Given the description of an element on the screen output the (x, y) to click on. 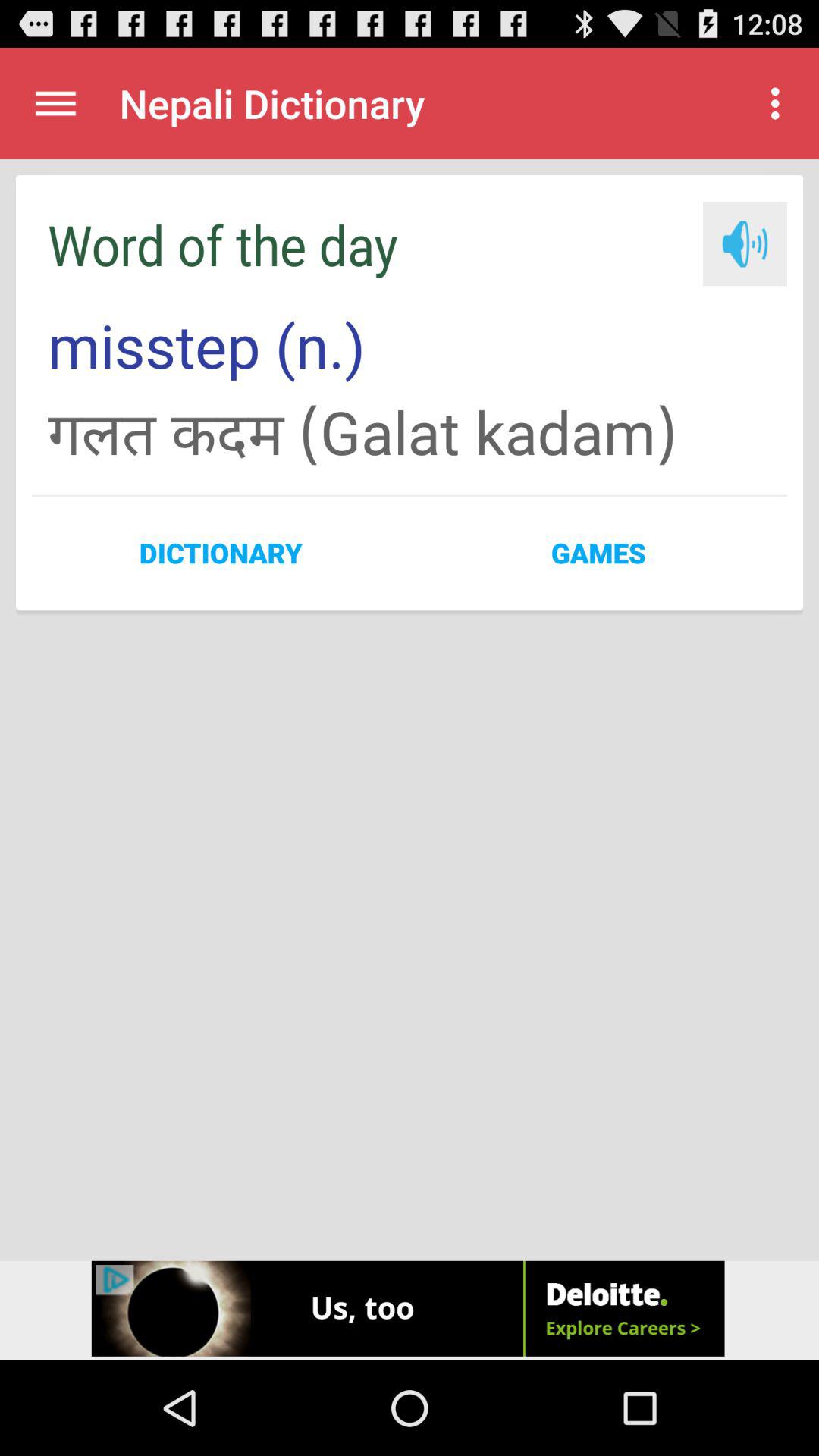
show advertisement (409, 1310)
